Given the description of an element on the screen output the (x, y) to click on. 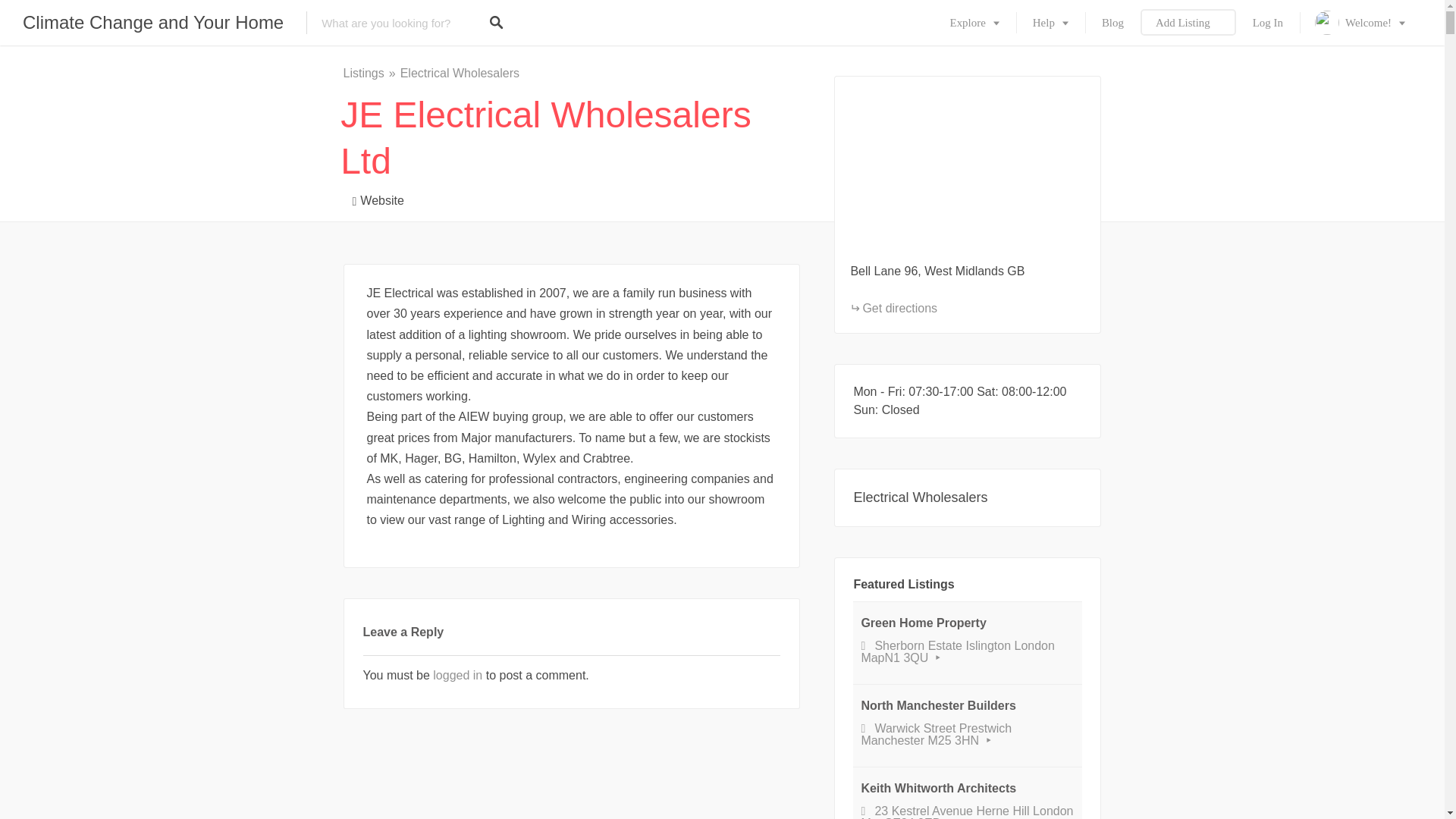
Add Listing (1187, 22)
Climate Change and Your Home (153, 22)
Help (1050, 22)
Blog (1112, 22)
Explore (974, 22)
